Given the description of an element on the screen output the (x, y) to click on. 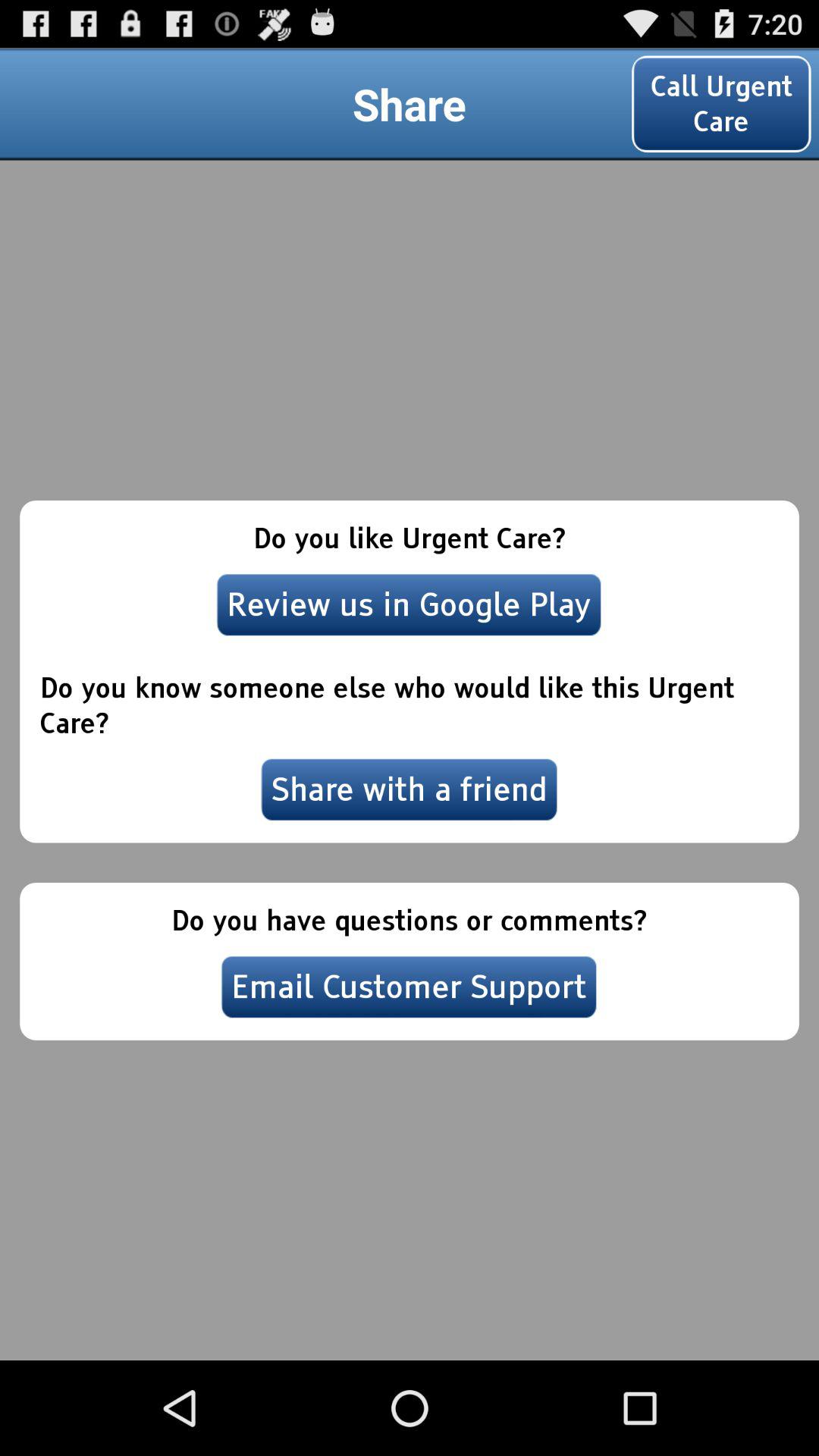
jump to the review us in item (408, 604)
